Given the description of an element on the screen output the (x, y) to click on. 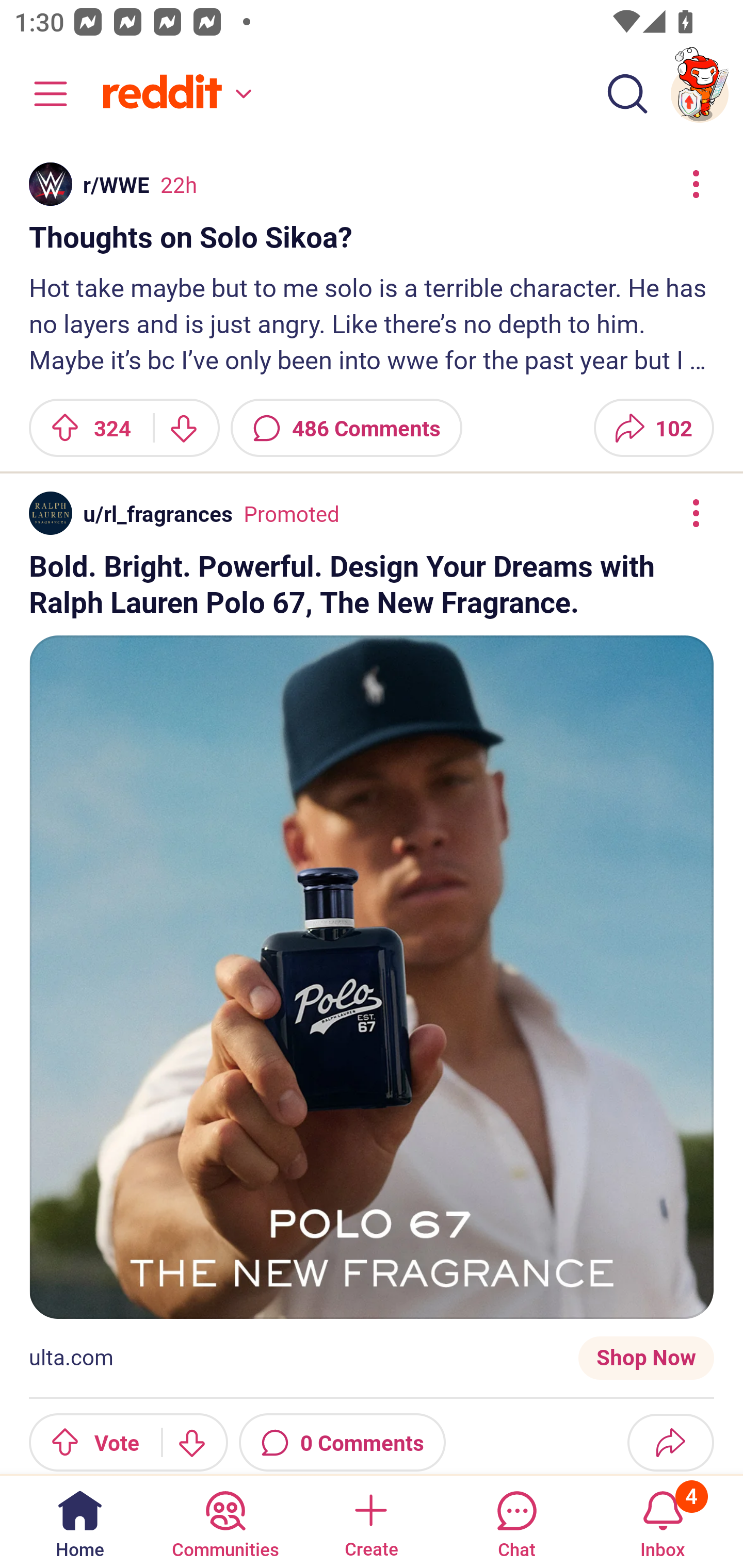
Search (626, 93)
TestAppium002 account (699, 93)
Community menu (41, 94)
Home feed (173, 94)
Home (80, 1520)
Communities (225, 1520)
Create a post Create (370, 1520)
Chat (516, 1520)
Inbox, has 4 notifications 4 Inbox (662, 1520)
